Given the description of an element on the screen output the (x, y) to click on. 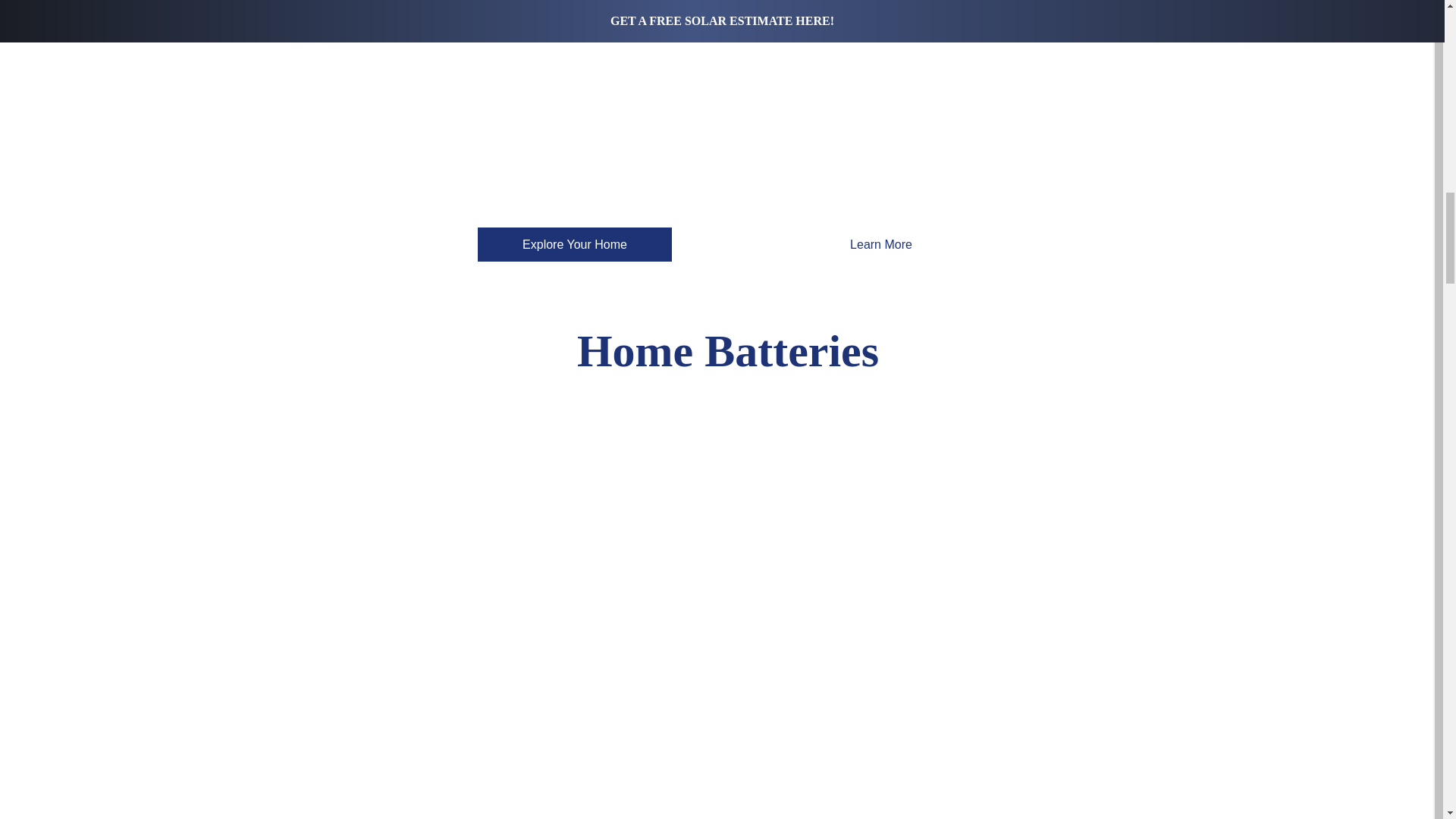
Explore Your Home (574, 244)
Learn More (881, 244)
